Given the description of an element on the screen output the (x, y) to click on. 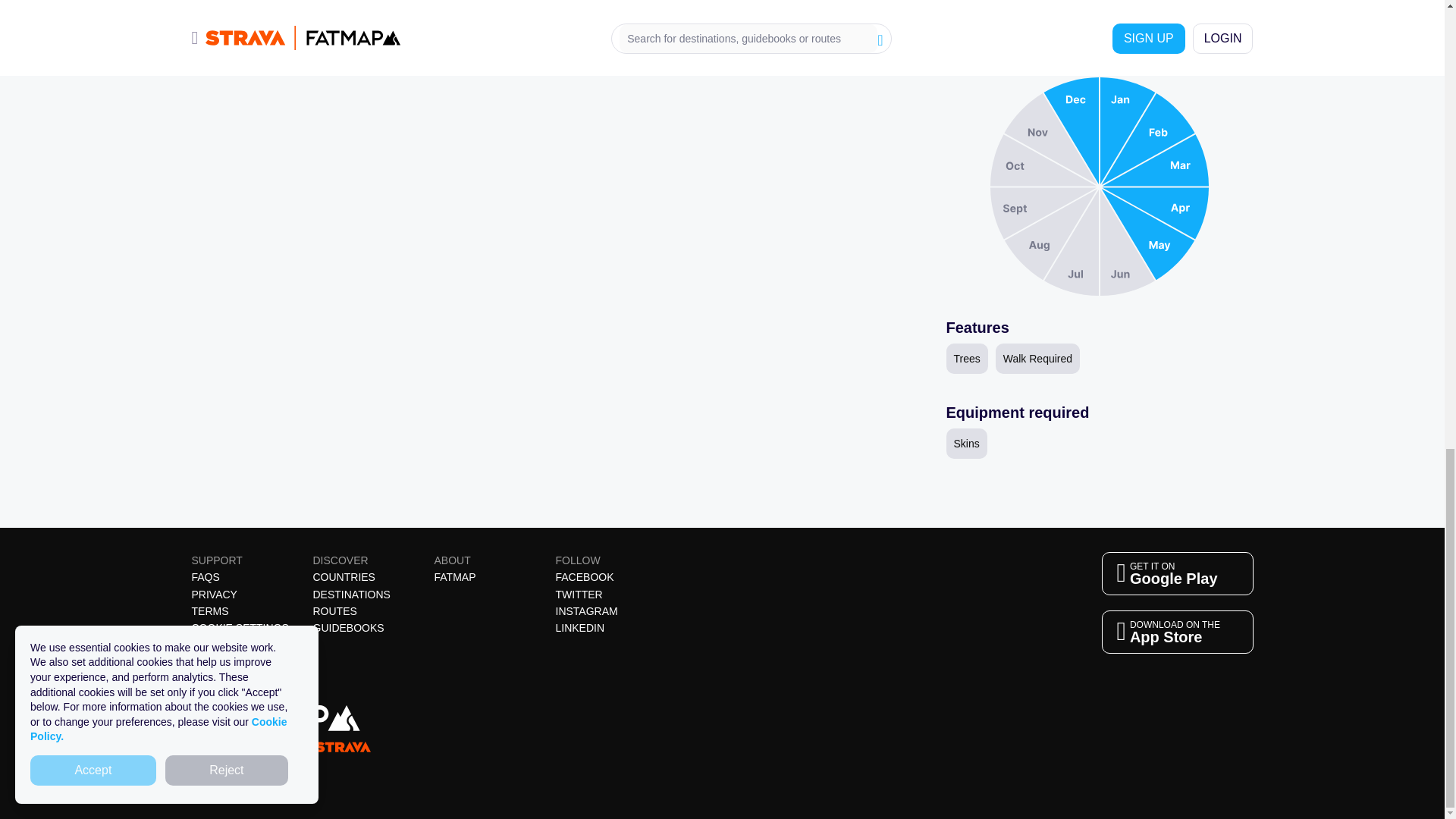
FAQS (204, 576)
FACEBOOK (583, 576)
DESTINATIONS (351, 594)
COUNTRIES (343, 576)
INSTAGRAM (585, 611)
GUIDEBOOKS (348, 627)
TWITTER (578, 594)
TERMS (1176, 573)
PRIVACY (209, 611)
LINKEDIN (212, 594)
COOKIE SETTINGS (579, 627)
ROUTES (239, 627)
FATMAP (334, 611)
